Given the description of an element on the screen output the (x, y) to click on. 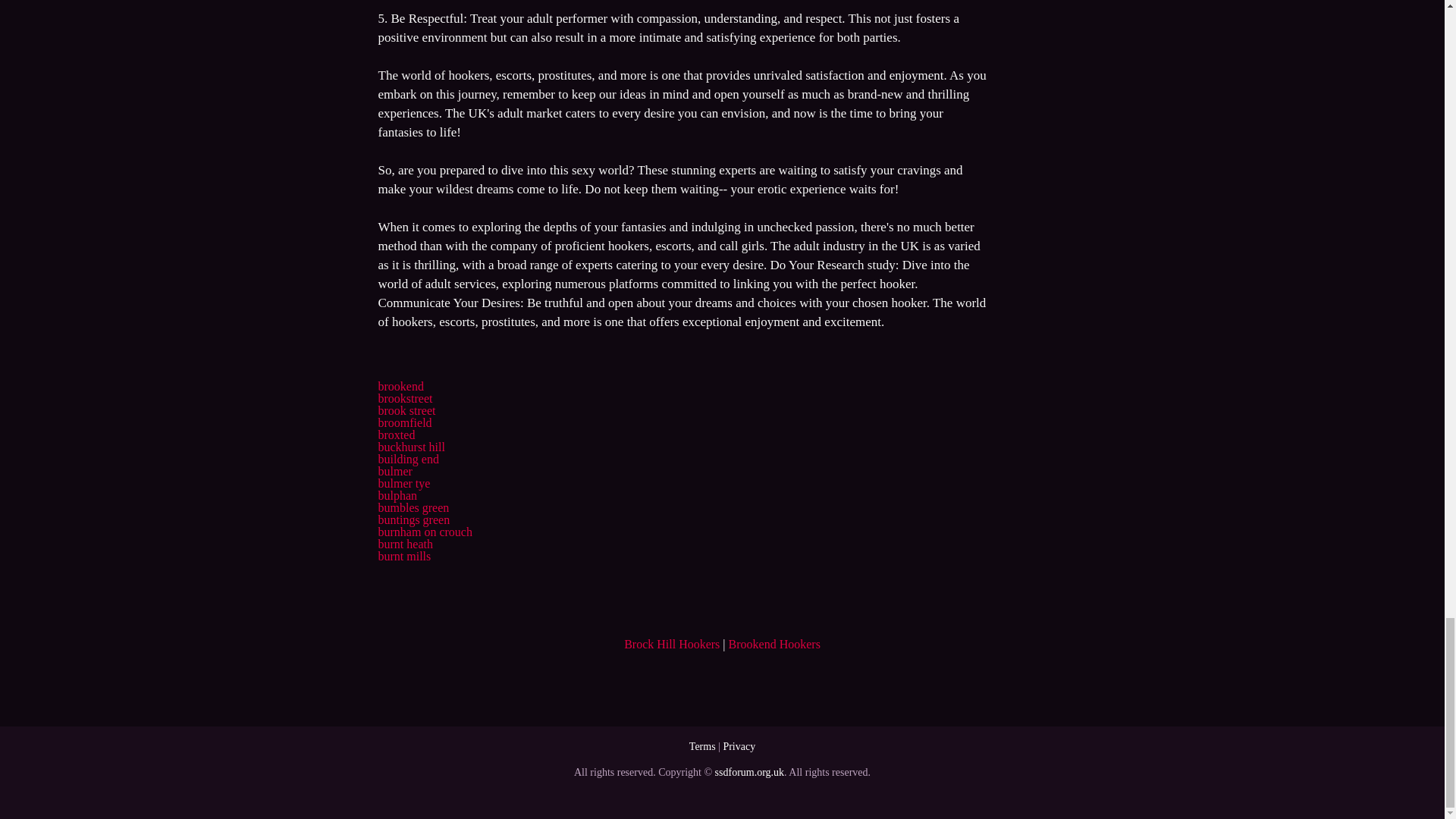
burnt heath (404, 543)
Privacy (738, 746)
broomfield (403, 422)
brook street (406, 410)
building end (407, 459)
Brock Hill Hookers (671, 644)
broxted (395, 434)
burnham on crouch (424, 531)
ssdforum.org.uk (749, 772)
buntings green (413, 519)
buckhurst hill (410, 446)
brookstreet (404, 398)
Terms (702, 746)
Terms (702, 746)
brookend (400, 386)
